Given the description of an element on the screen output the (x, y) to click on. 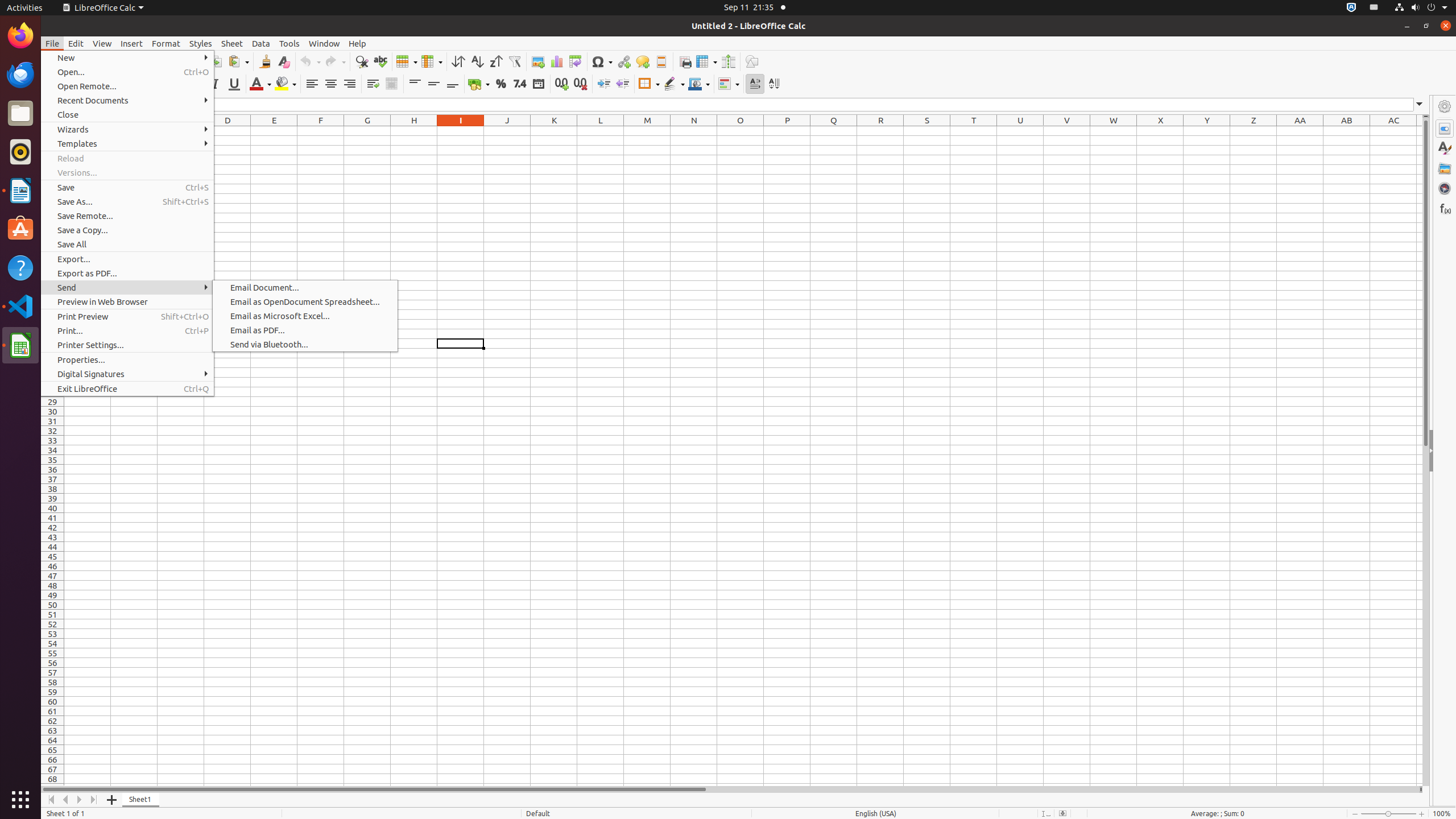
Font Color Element type: push-button (260, 83)
Sort Element type: push-button (457, 61)
Save Element type: menu-item (126, 187)
Open Remote... Element type: menu-item (126, 86)
Chart Element type: push-button (556, 61)
